Given the description of an element on the screen output the (x, y) to click on. 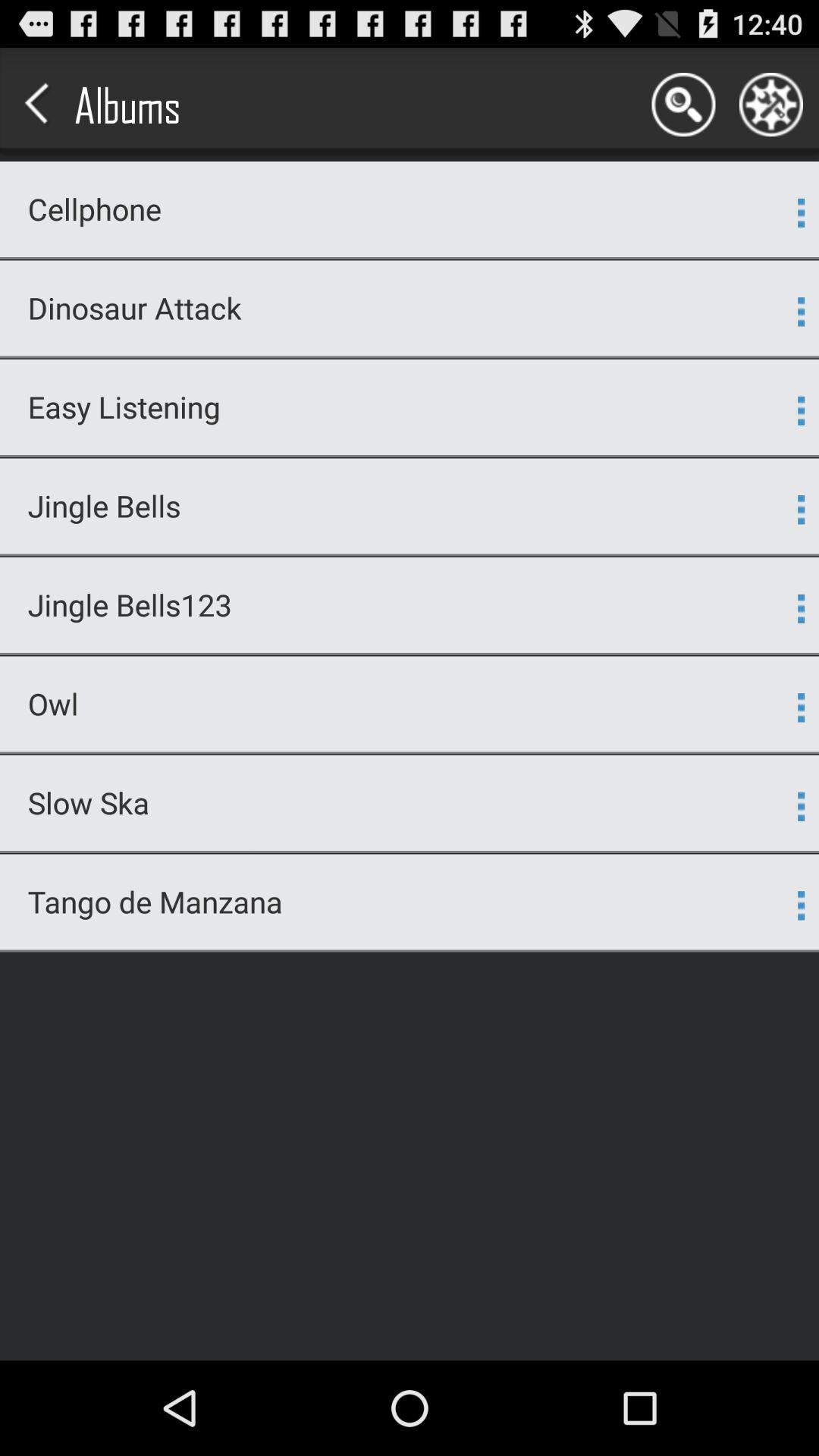
flip until slow ska app (400, 802)
